Given the description of an element on the screen output the (x, y) to click on. 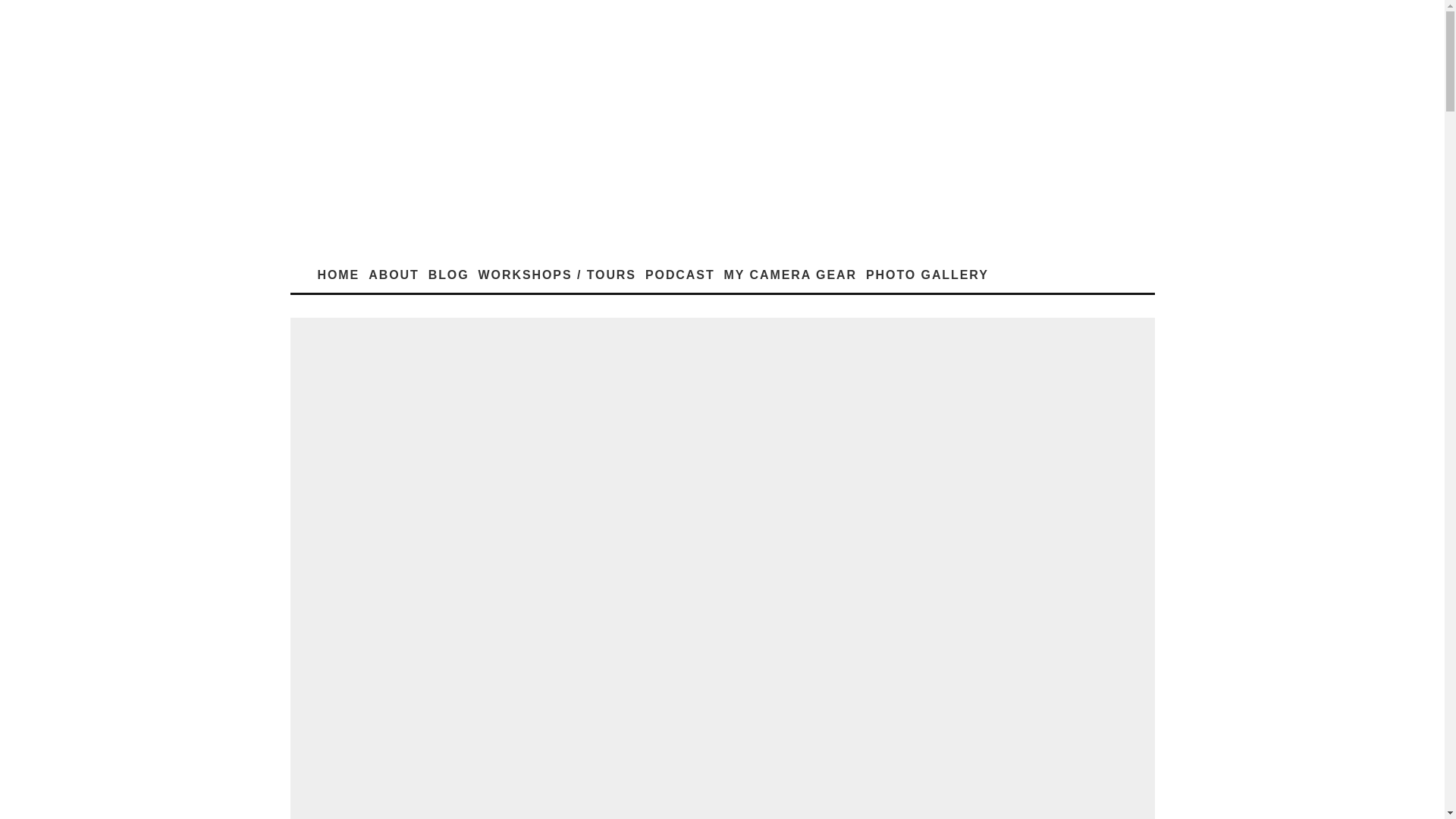
ABOUT (393, 274)
BLOG (448, 274)
PHOTO GALLERY (926, 274)
HOME (338, 274)
MY CAMERA GEAR (790, 274)
PODCAST (679, 274)
